Given the description of an element on the screen output the (x, y) to click on. 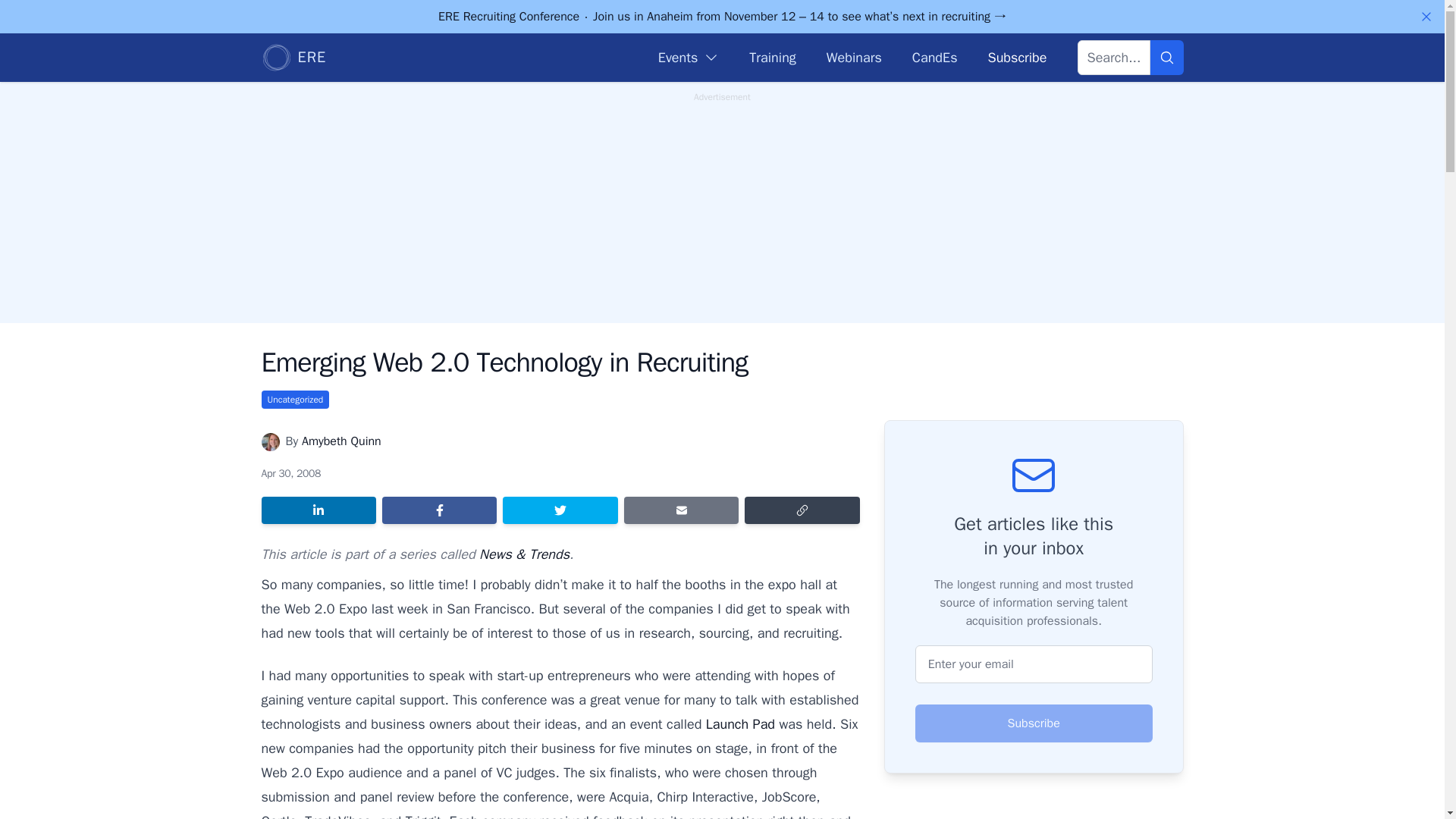
Training (771, 56)
ERE (293, 57)
Dismiss (1425, 16)
CandEs (935, 56)
Launch Pad (740, 723)
Subscribe (1034, 723)
Uncategorized (294, 399)
Events (688, 56)
Webinars (854, 56)
Amybeth Quinn (341, 441)
Subscribe (1016, 56)
